Given the description of an element on the screen output the (x, y) to click on. 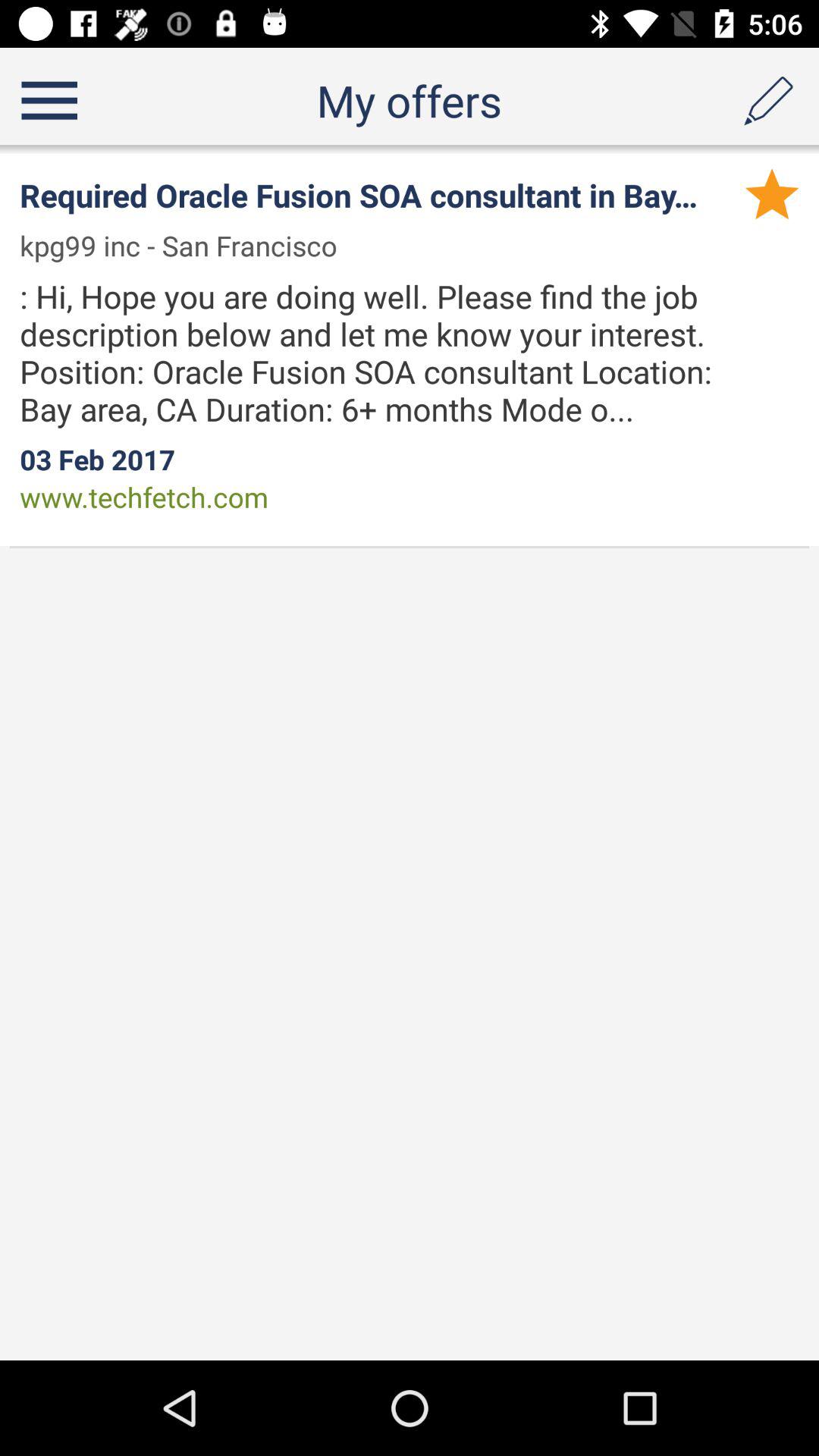
jump until hi hope you item (393, 352)
